Given the description of an element on the screen output the (x, y) to click on. 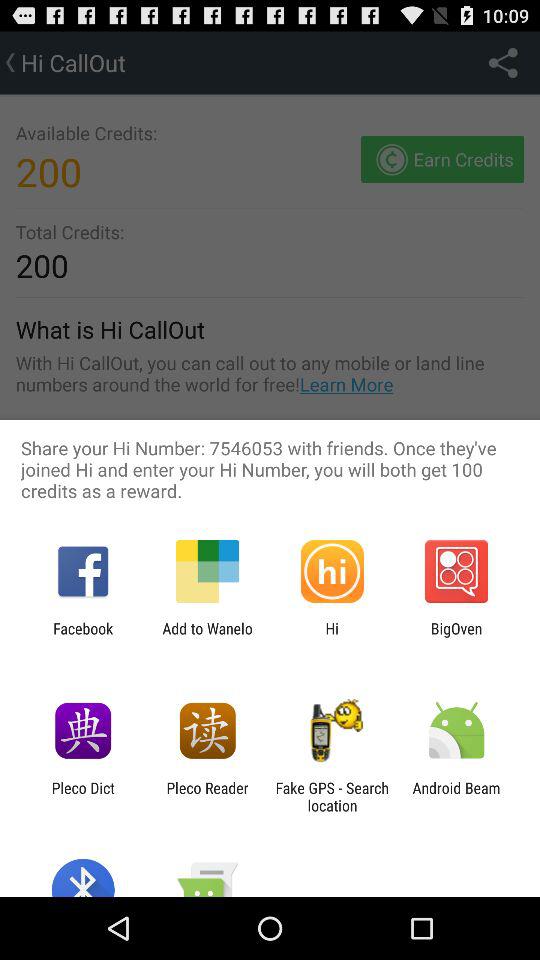
click icon next to the fake gps search icon (207, 796)
